Given the description of an element on the screen output the (x, y) to click on. 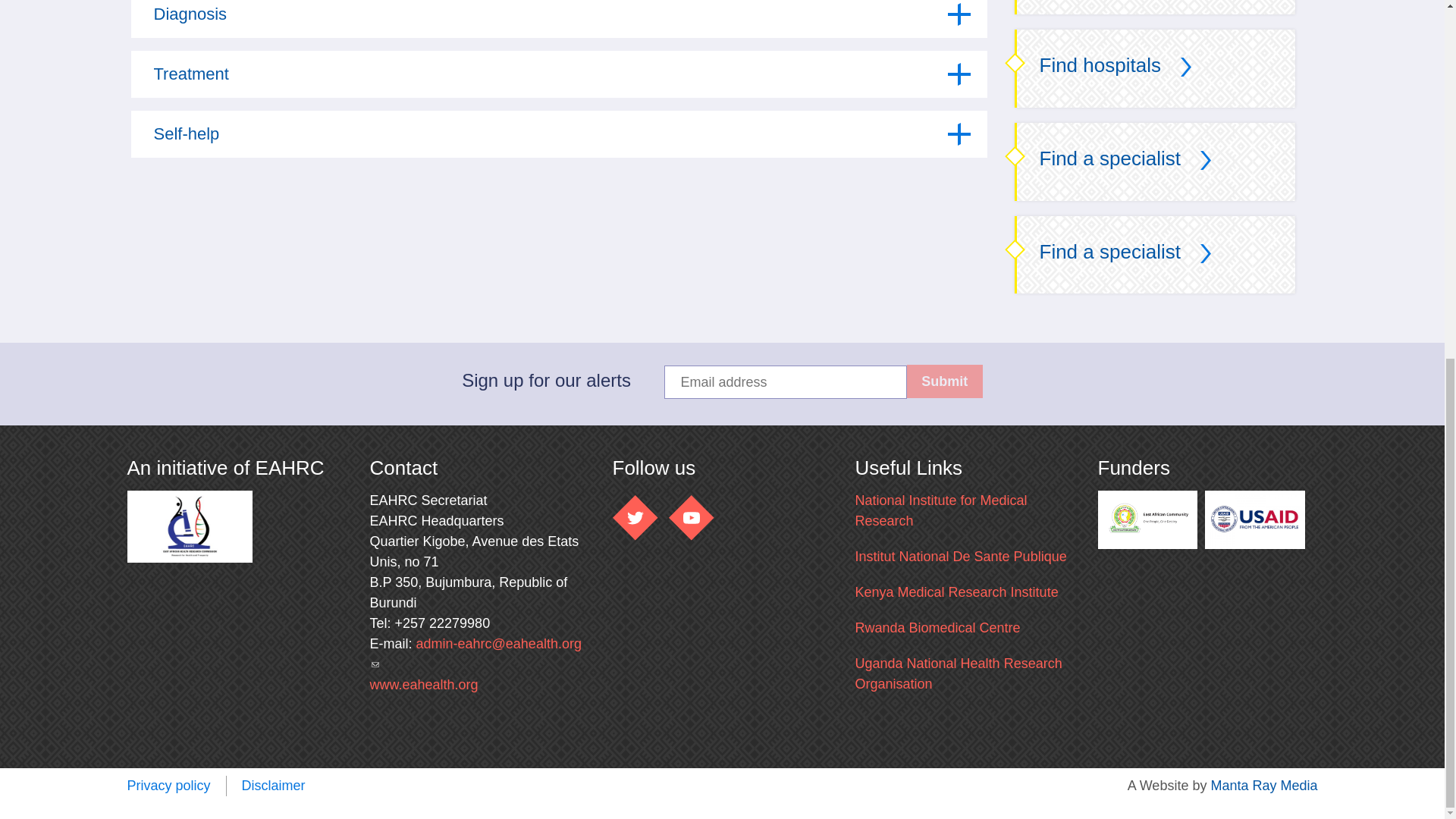
Submit (944, 381)
